Given the description of an element on the screen output the (x, y) to click on. 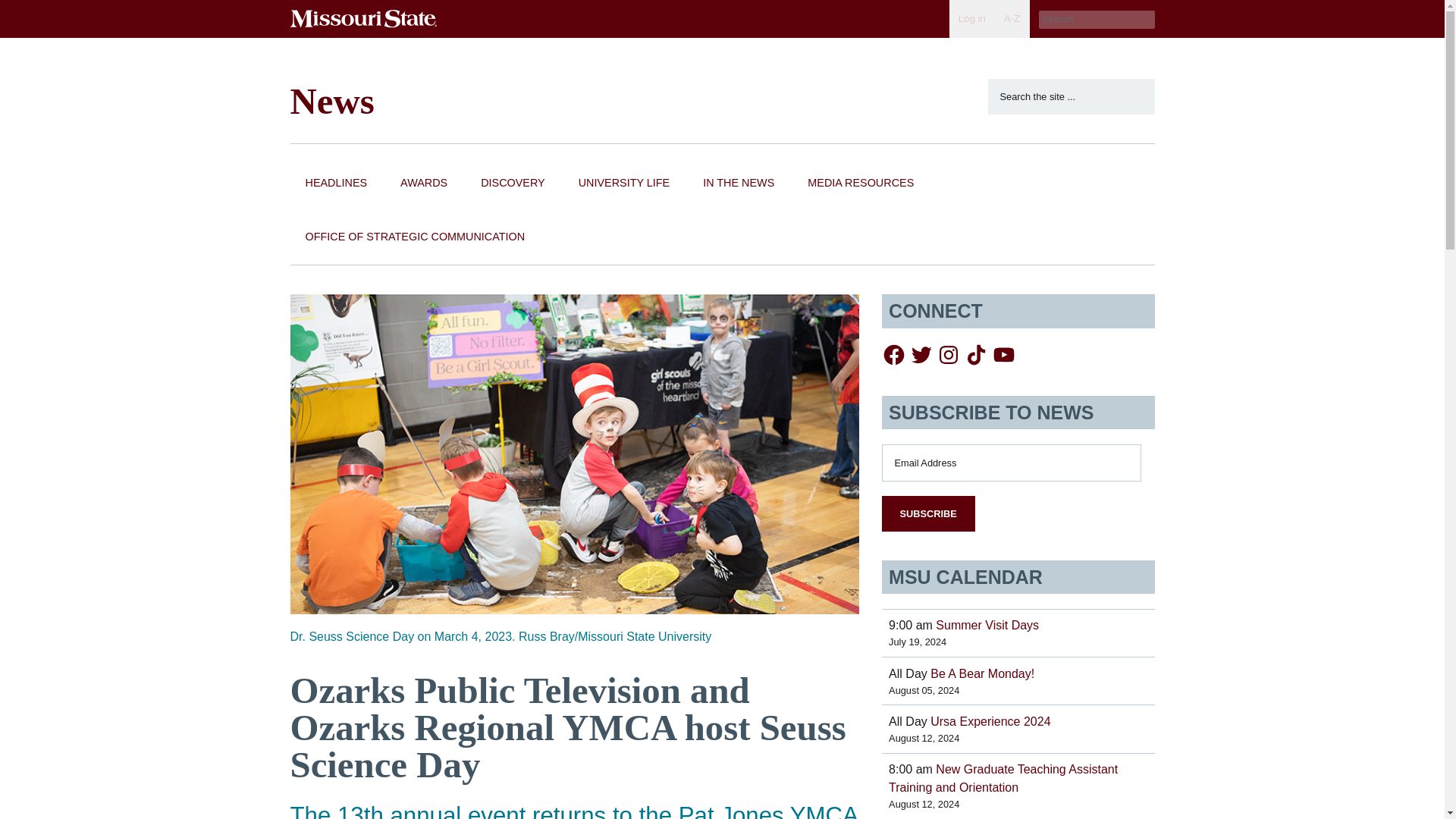
Log in (971, 18)
DISCOVERY (512, 183)
HEADLINES (335, 183)
News (331, 101)
AWARDS (424, 183)
A-Z (1011, 18)
